Given the description of an element on the screen output the (x, y) to click on. 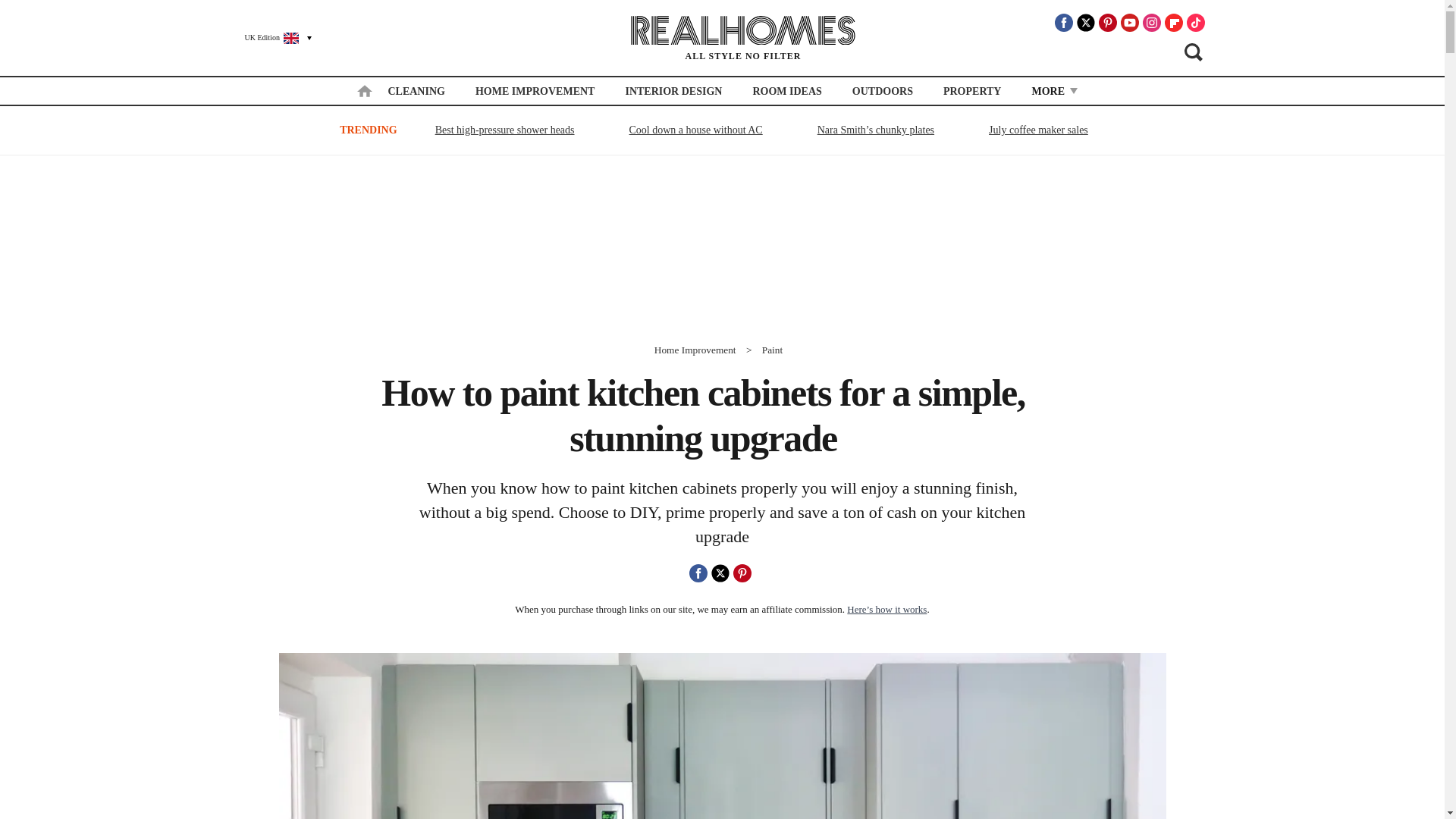
HOME IMPROVEMENT (535, 90)
PROPERTY (972, 90)
Advertisement (722, 250)
INTERIOR DESIGN (673, 90)
July coffee maker sales (1038, 129)
ALL STYLE NO FILTER (742, 38)
Home Improvement (694, 349)
Best high-pressure shower heads (504, 129)
OUTDOORS (881, 90)
UK Edition (271, 37)
ROOM IDEAS (786, 90)
CLEANING (415, 90)
Cool down a house without AC (696, 129)
Paint (772, 349)
